Given the description of an element on the screen output the (x, y) to click on. 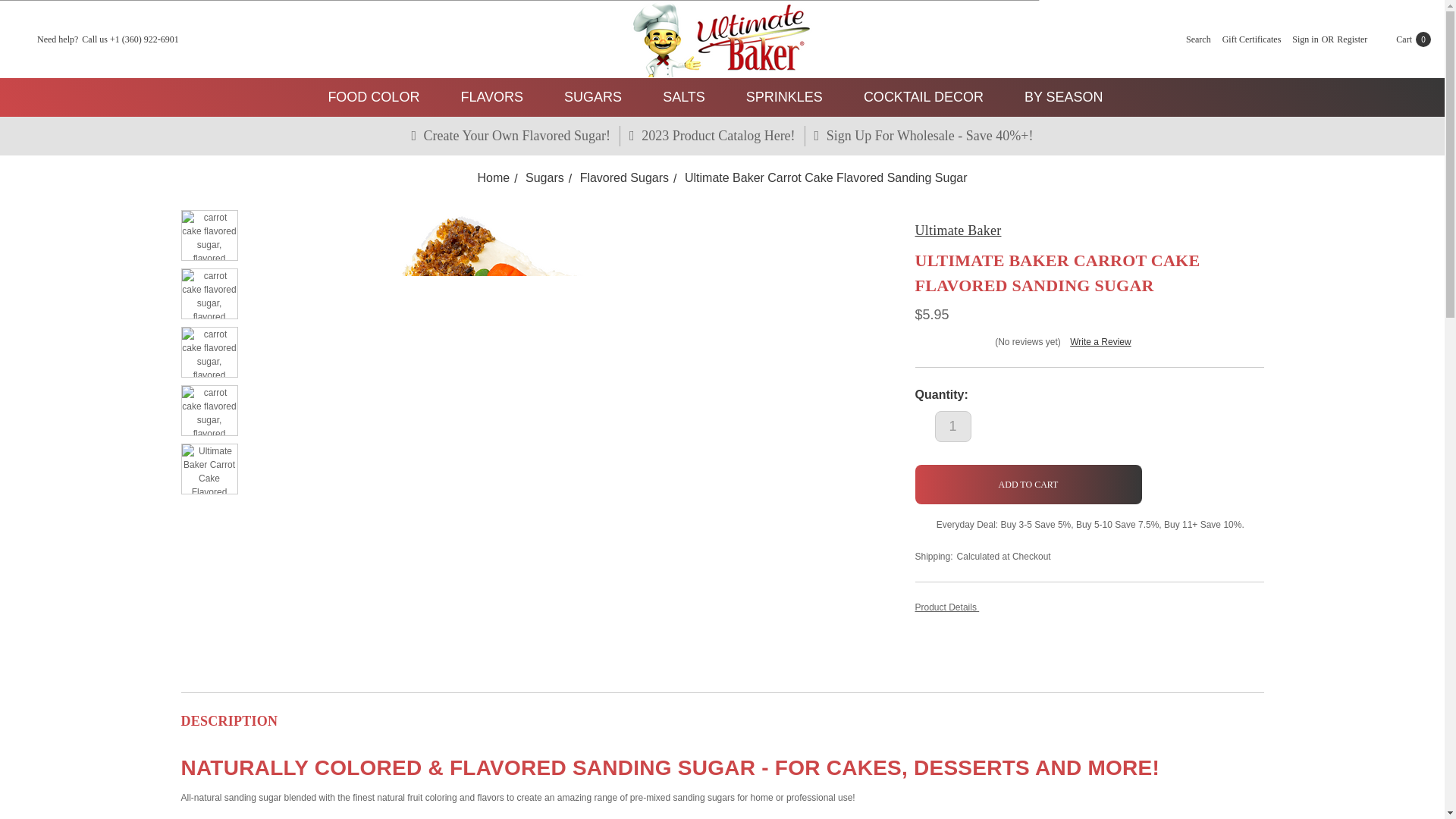
FOOD COLOR (380, 97)
Cart 0 (1402, 39)
Product Details (1089, 607)
FLAVORS (498, 97)
Add to Cart (1028, 484)
Sign in (1304, 38)
SALTS (690, 97)
1 (952, 426)
SUGARS (599, 97)
Ultimate Baker Carrot Cake Flavored Sanding Sugar (209, 468)
